Given the description of an element on the screen output the (x, y) to click on. 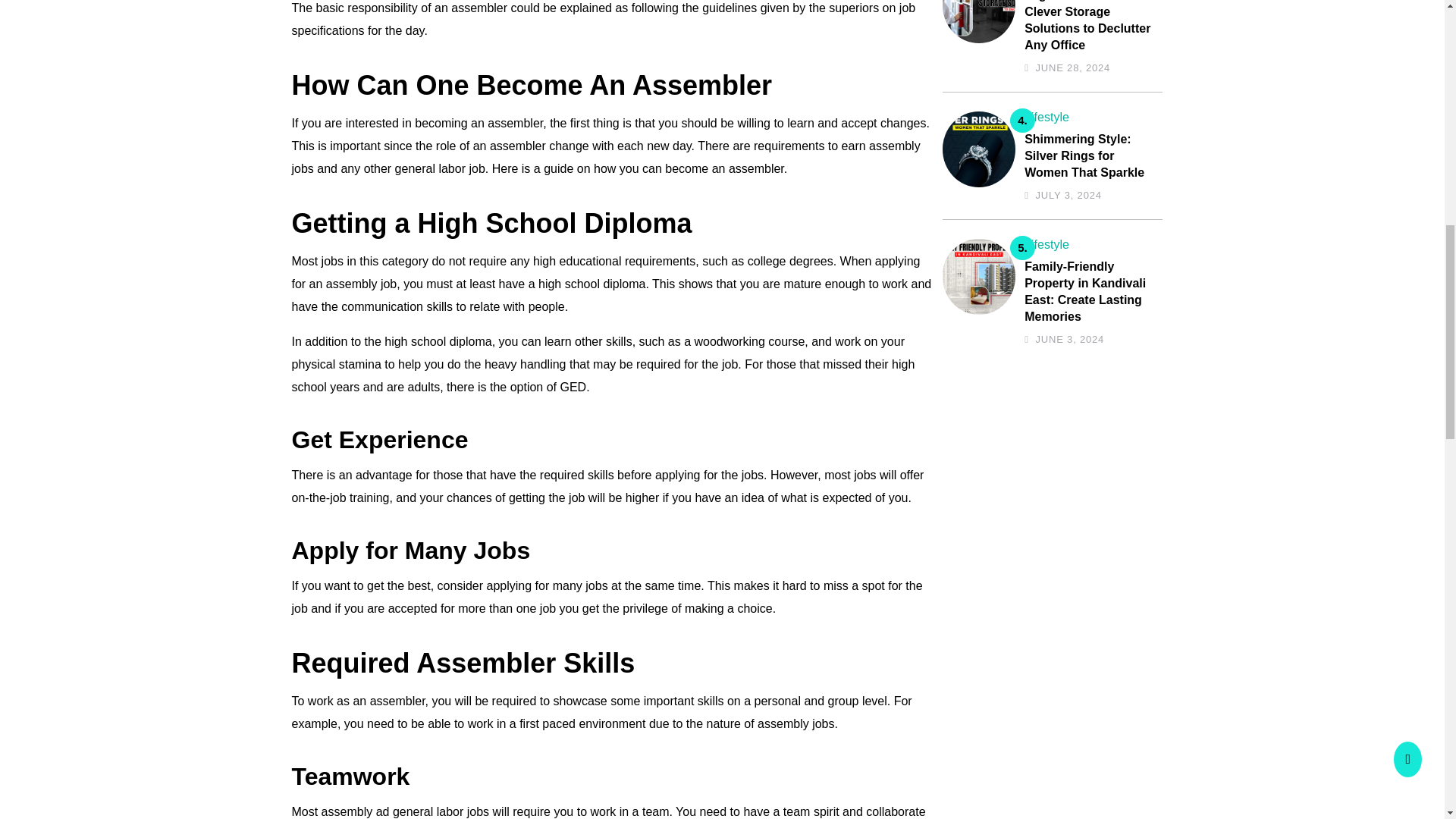
Lifestyle (1046, 116)
Lifestyle (1046, 244)
Shimmering Style: Silver Rings for Women That Sparkle (1089, 155)
